Given the description of an element on the screen output the (x, y) to click on. 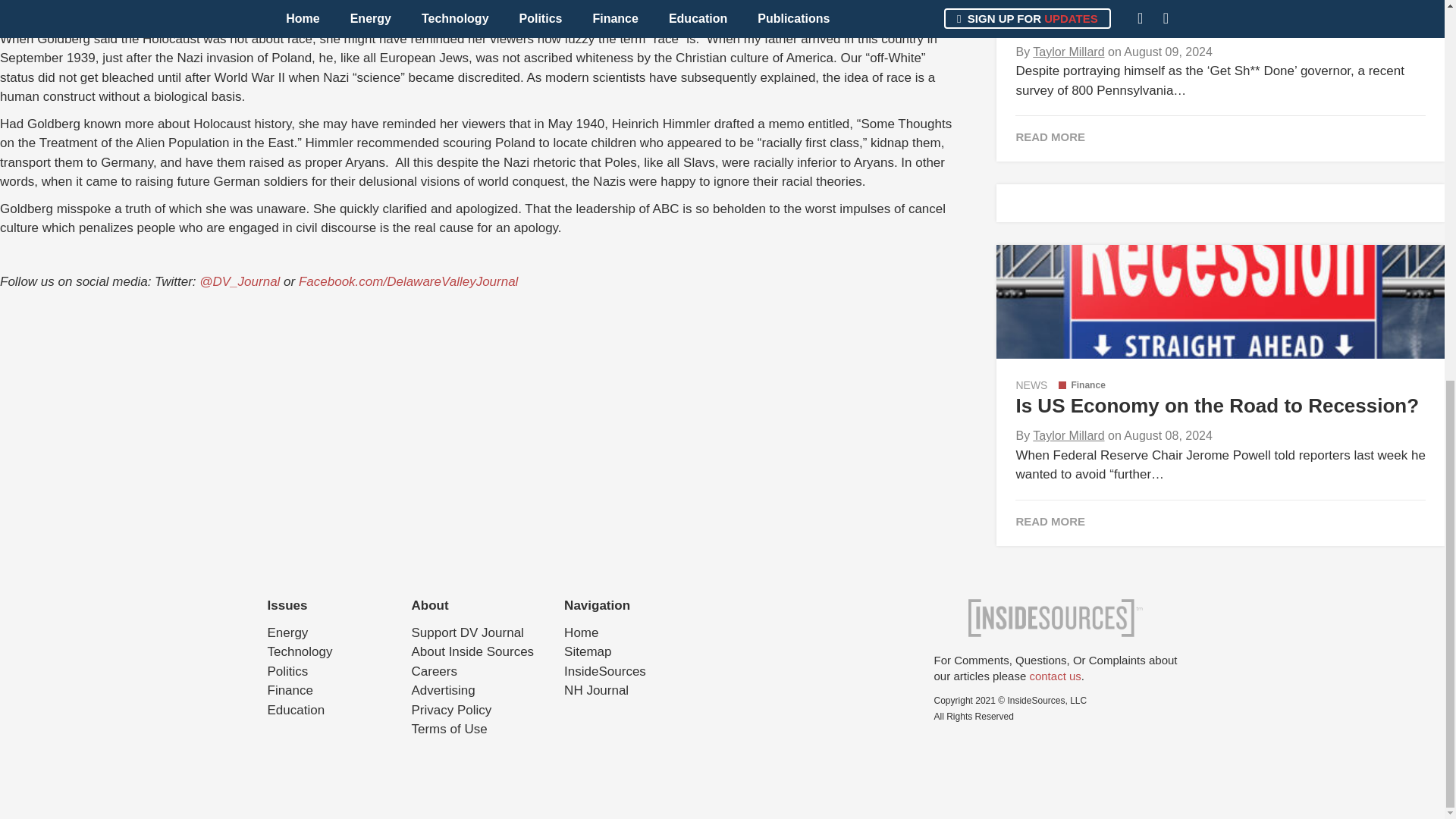
Posts by Taylor Millard (1067, 51)
Politics (286, 671)
Finance (289, 690)
Technology (298, 651)
Taylor Millard (1067, 435)
About Inside Sources (472, 651)
Careers (433, 671)
Support DV Journal (466, 632)
Is US Economy on the Road to Recession? (1216, 404)
READ MORE (1219, 521)
